Given the description of an element on the screen output the (x, y) to click on. 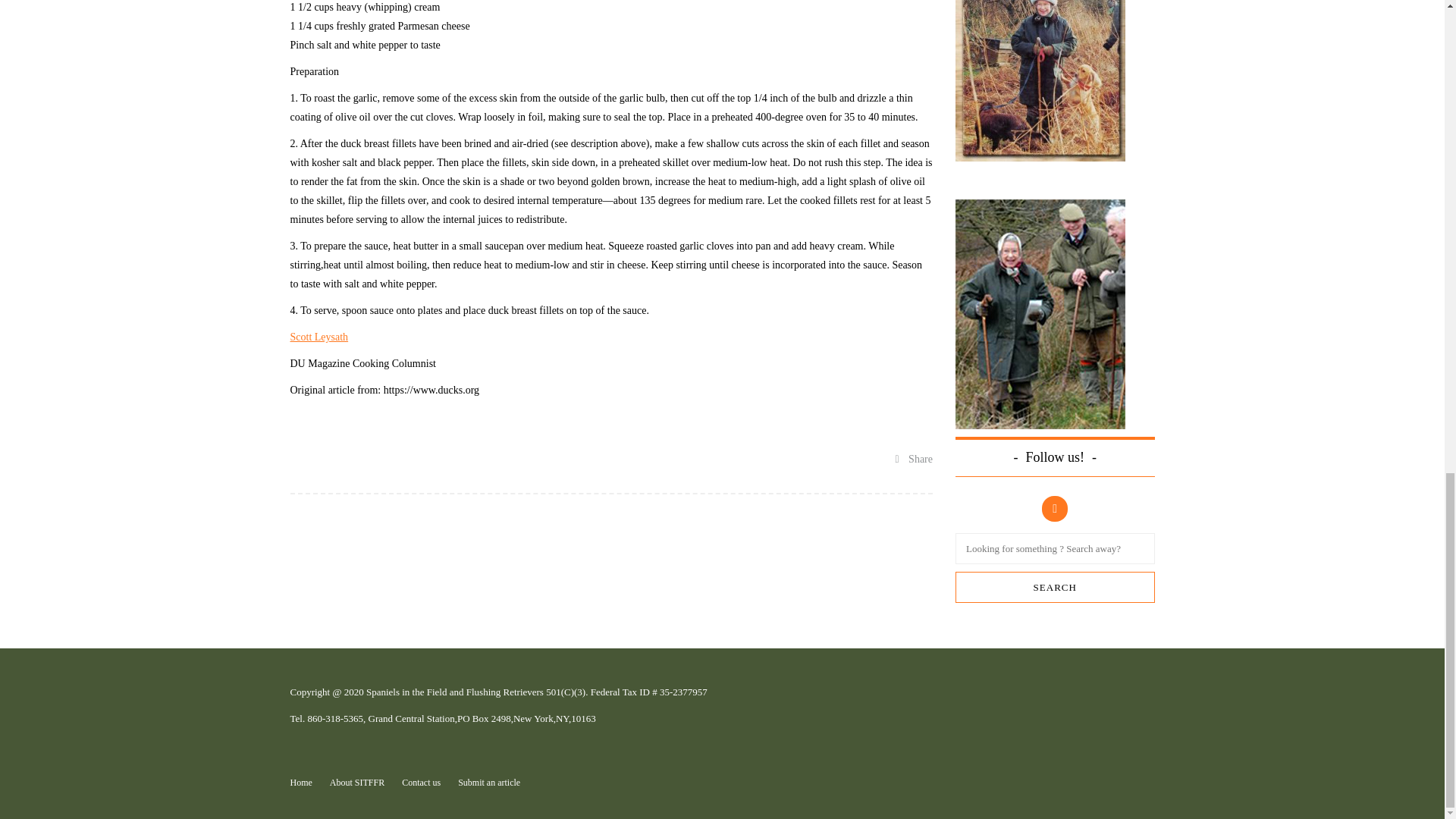
Search (1054, 586)
Show Bio (318, 337)
